Given the description of an element on the screen output the (x, y) to click on. 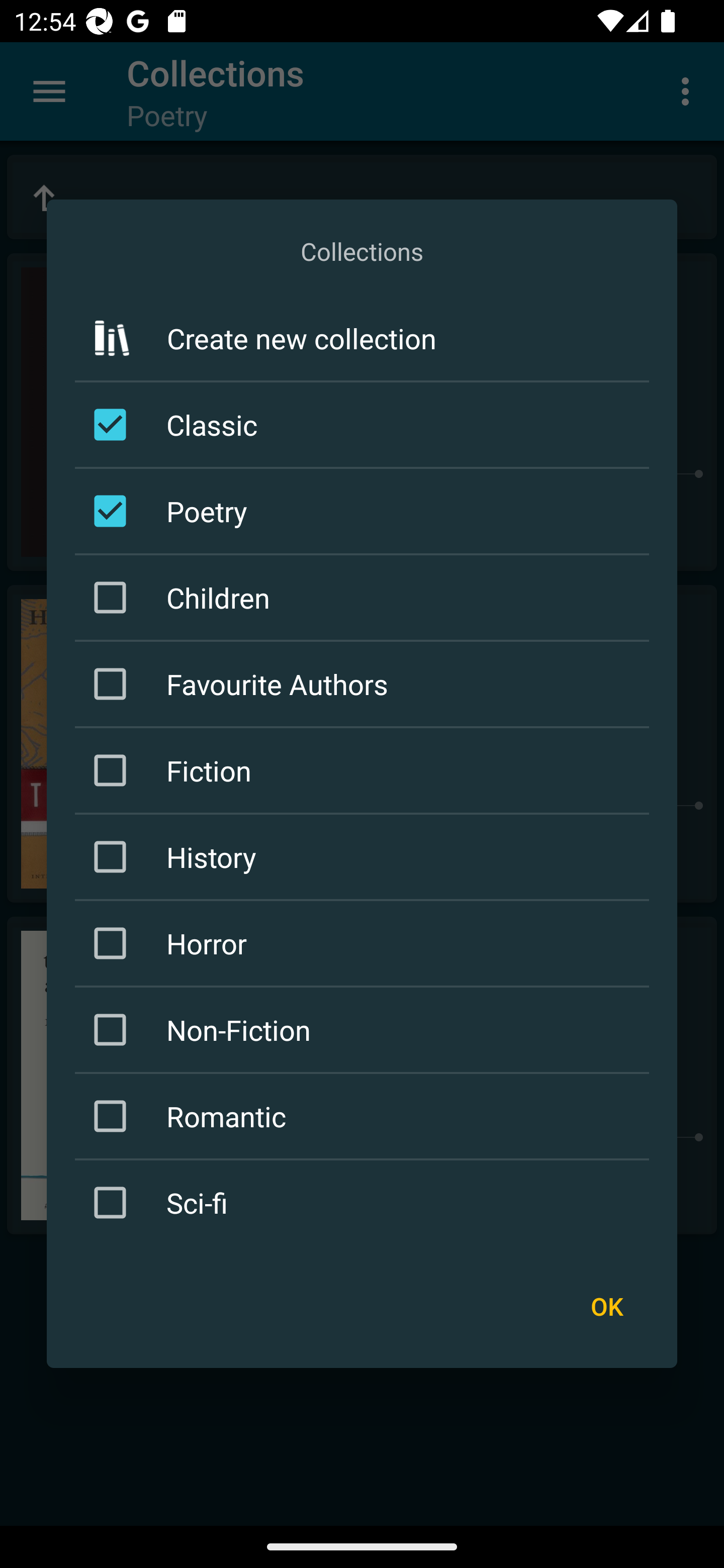
Create new collection (361, 338)
Classic (365, 424)
Poetry (365, 510)
Children (365, 597)
Favourite Authors (365, 683)
Fiction (365, 769)
History (365, 856)
Horror (365, 943)
Non-Fiction (365, 1029)
Romantic (365, 1116)
Sci-fi (365, 1202)
OK (606, 1306)
